Given the description of an element on the screen output the (x, y) to click on. 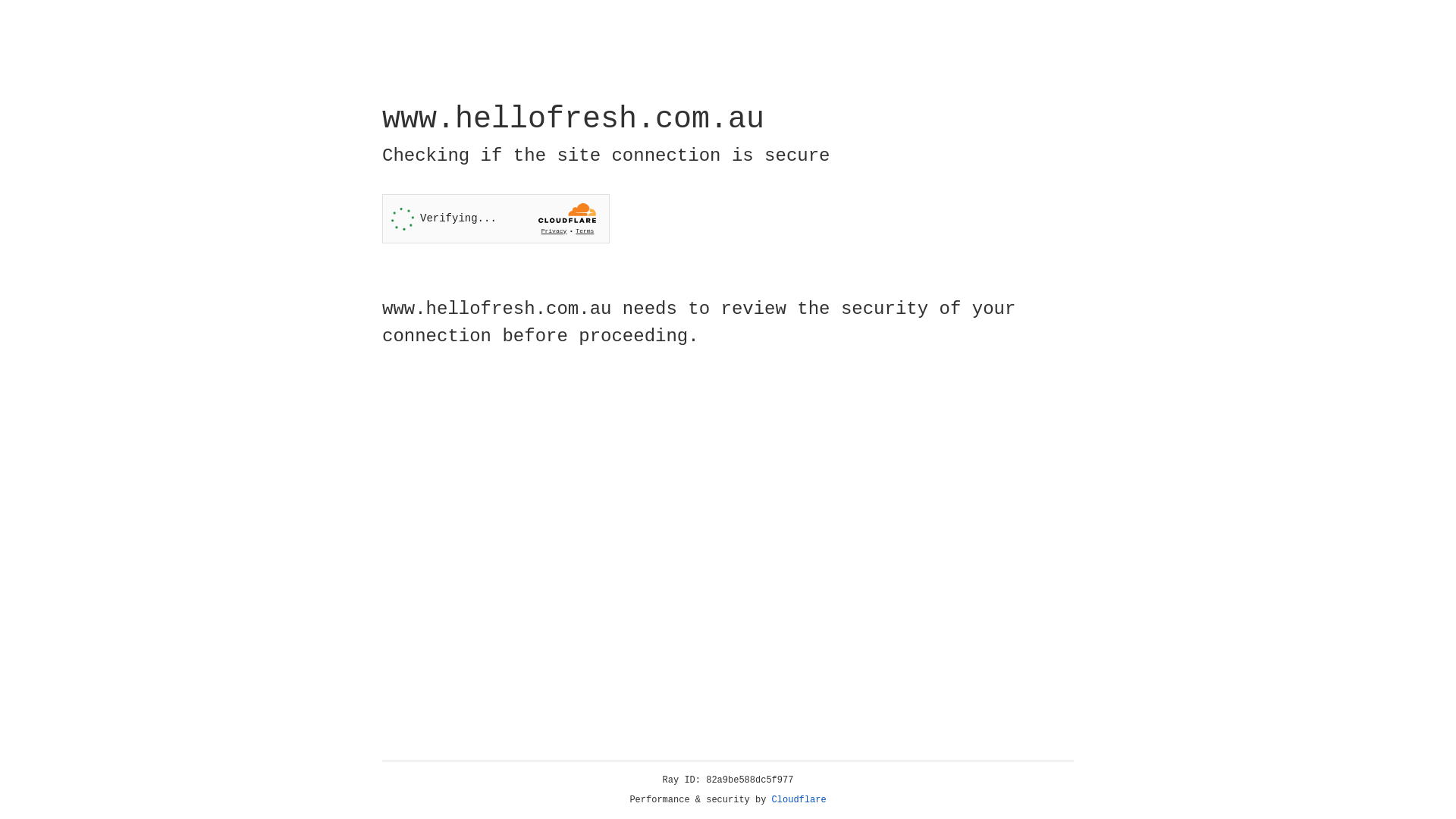
Cloudflare Element type: text (798, 799)
Widget containing a Cloudflare security challenge Element type: hover (495, 218)
